Given the description of an element on the screen output the (x, y) to click on. 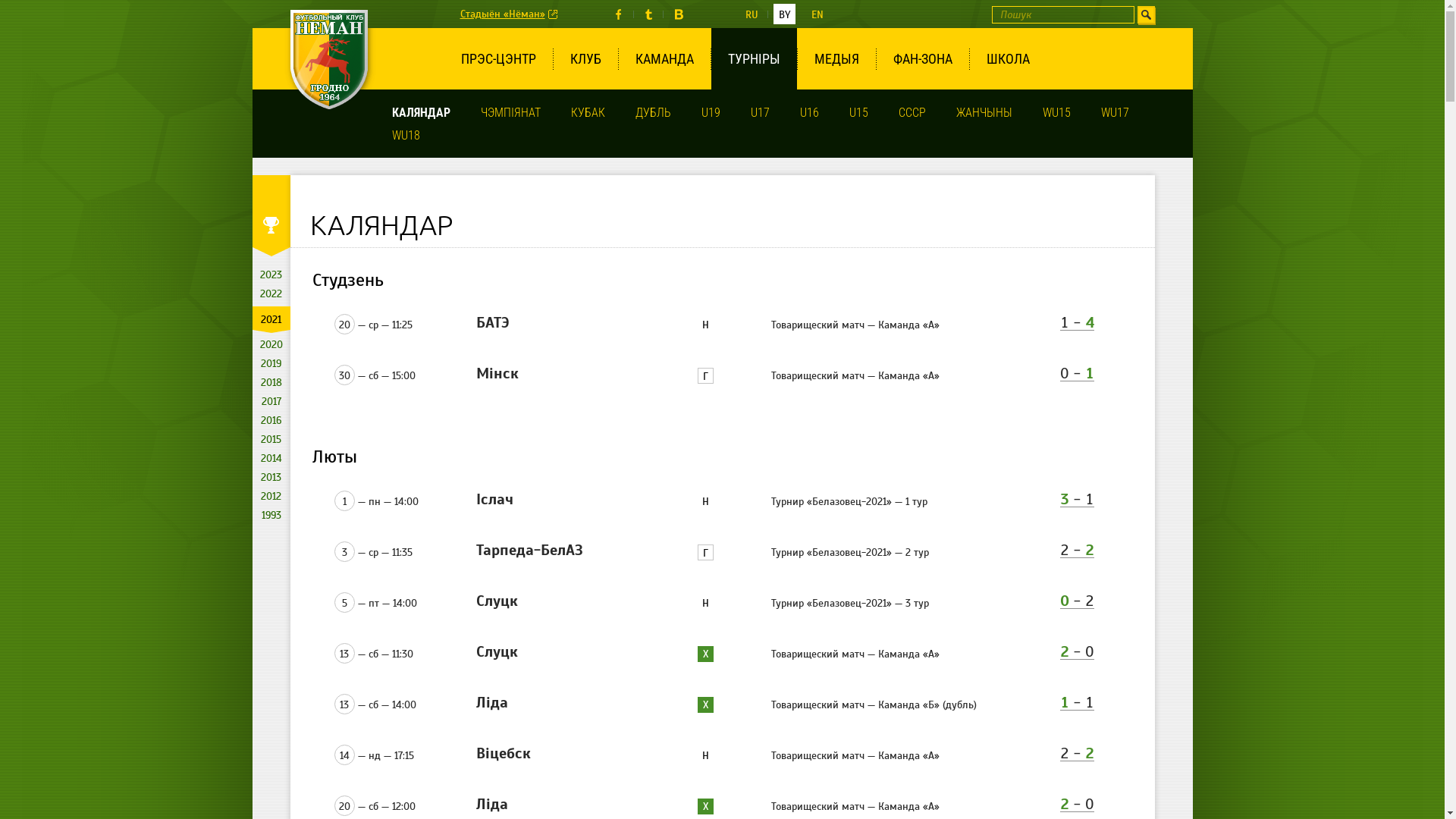
U15 Element type: text (858, 112)
2 - 0 Element type: text (1076, 804)
1993 Element type: text (270, 514)
2016 Element type: text (270, 420)
U17 Element type: text (759, 112)
U16 Element type: text (808, 112)
2019 Element type: text (270, 363)
2015 Element type: text (270, 439)
2018 Element type: text (271, 382)
U19 Element type: text (709, 112)
2 - 2 Element type: text (1076, 550)
2022 Element type: text (271, 293)
EN Element type: text (817, 13)
Facebook Element type: hover (618, 14)
0 - 1 Element type: text (1076, 373)
2023 Element type: text (271, 274)
0 - 2 Element type: text (1076, 601)
RU Element type: text (751, 13)
Vkontakte Element type: hover (677, 14)
2012 Element type: text (270, 495)
WU18 Element type: text (405, 135)
2020 Element type: text (270, 344)
2014 Element type: text (271, 457)
Twitter Element type: hover (649, 14)
3 - 1 Element type: text (1076, 499)
WU17 Element type: text (1115, 112)
2017 Element type: text (270, 401)
1 - 1 Element type: text (1076, 702)
2013 Element type: text (270, 476)
2 - 0 Element type: text (1076, 652)
WU15 Element type: text (1055, 112)
2 - 2 Element type: text (1076, 753)
1 - 4 Element type: text (1076, 322)
